Given the description of an element on the screen output the (x, y) to click on. 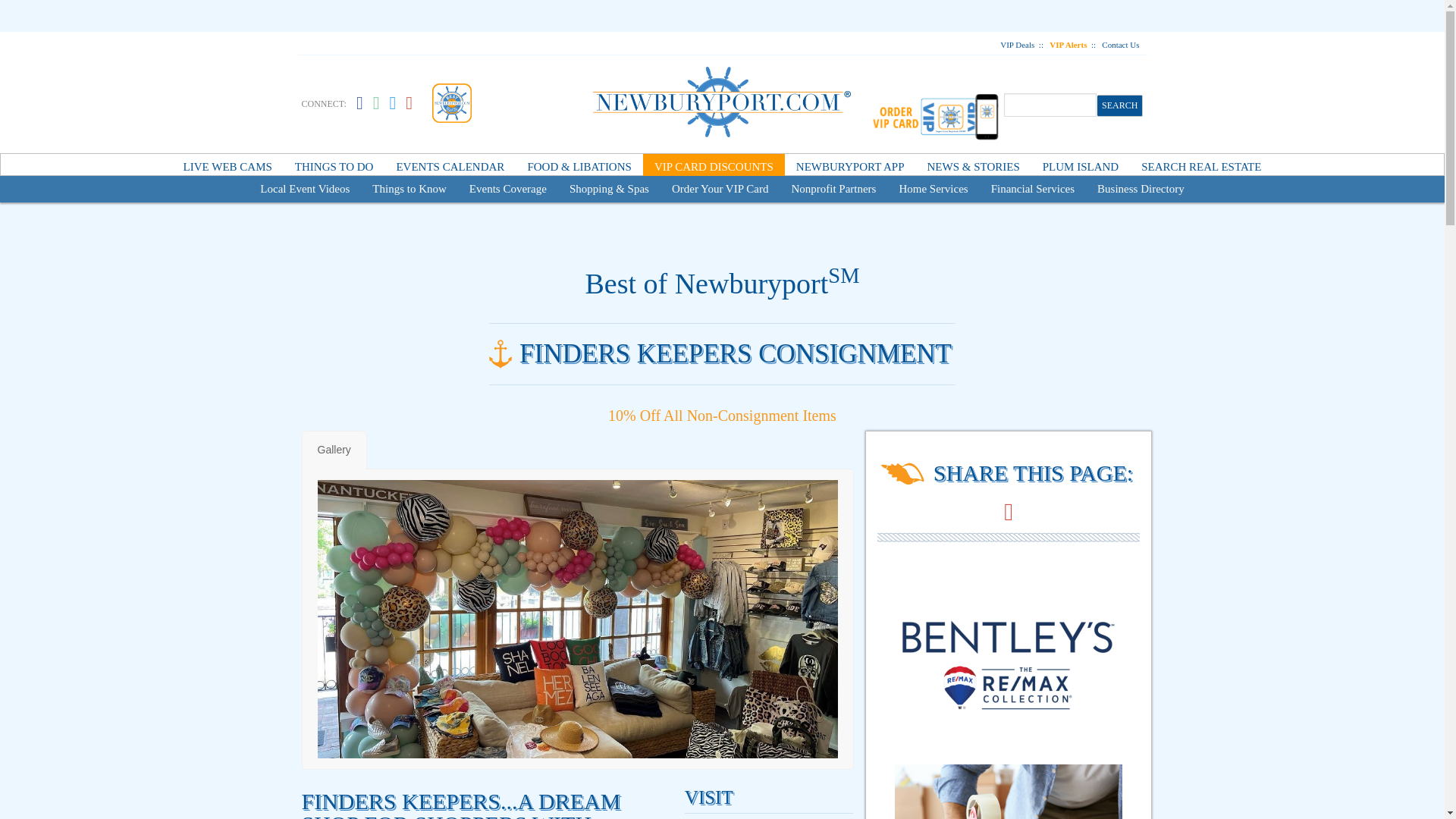
SEARCH REAL ESTATE (1200, 166)
Nonprofit Partners (832, 189)
Business Directory (1140, 189)
Financial Services (1032, 189)
Search (1119, 105)
THINGS TO DO (334, 166)
EVENTS CALENDAR (449, 166)
VIP Deals (1016, 44)
VIP Alerts (1067, 44)
Search (1119, 105)
Contact Us (1120, 44)
VIP CARD DISCOUNTS (713, 166)
Gallery (333, 449)
PLUM ISLAND (1079, 166)
